Given the description of an element on the screen output the (x, y) to click on. 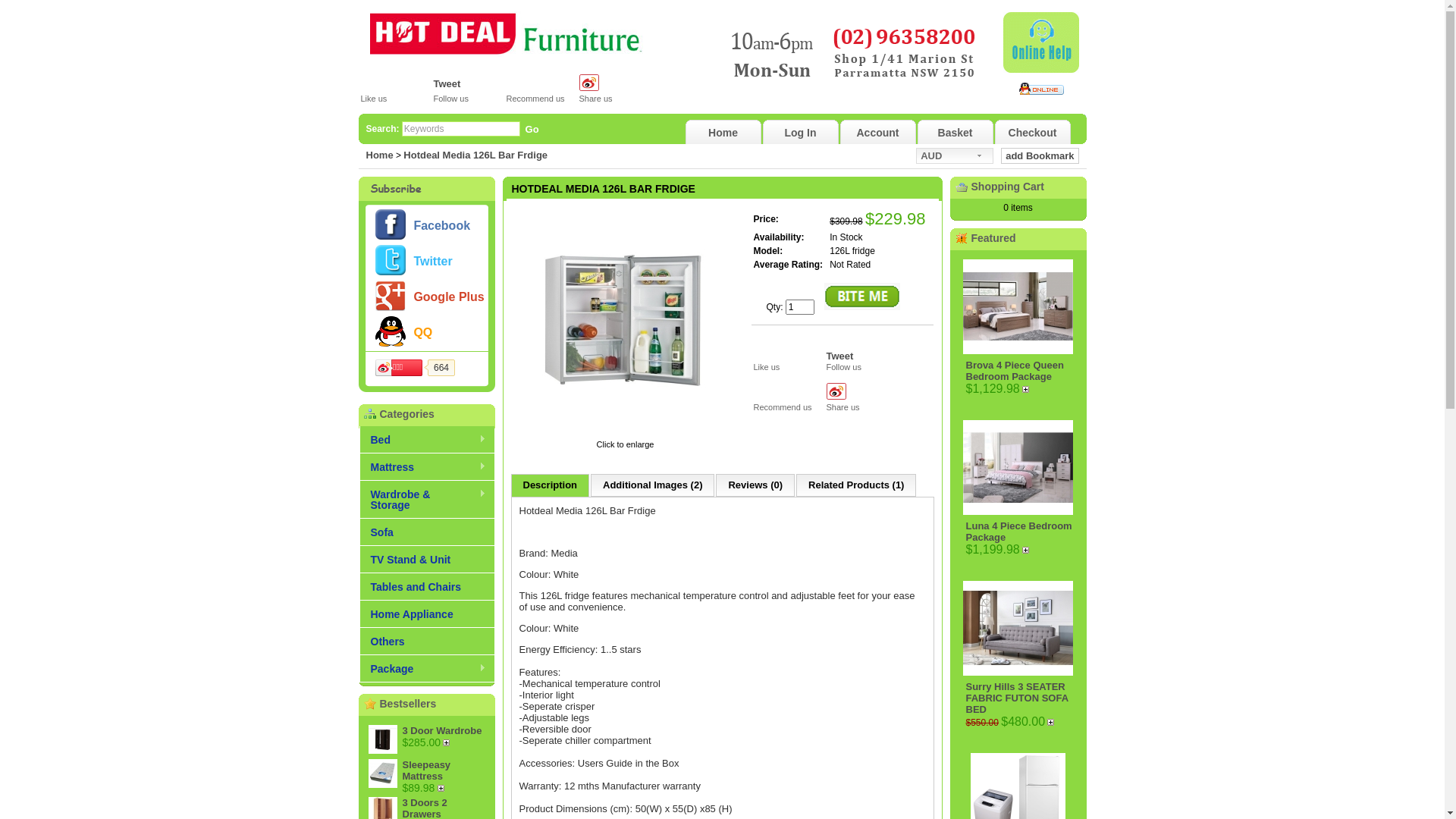
Tweet Element type: text (839, 355)
Additional Images (2) Element type: text (652, 484)
Basket Element type: text (955, 133)
Surry Hills 3 SEATER FABRIC FUTON SOFA BED Element type: text (1017, 697)
Hotdeal Media 126L Bar Frdige Element type: hover (624, 433)
Add to Cart Element type: hover (1052, 721)
Home Element type: text (723, 133)
Sofa Element type: text (426, 532)
Go Element type: text (532, 128)
Home Appliance Element type: text (426, 613)
Sleepeasy Mattress Element type: text (425, 770)
add Bookmark Element type: text (1039, 155)
Brova 4 Piece Queen Bedroom Package Element type: text (1014, 370)
Add to Cart Element type: hover (442, 787)
Add to Cart Element type: hover (447, 742)
  Element type: text (447, 742)
Related Products (1) Element type: text (856, 484)
Others Element type: text (426, 641)
  Element type: text (442, 787)
Add to Cart Element type: hover (1027, 549)
  Element type: text (1052, 721)
Tweet Element type: text (447, 83)
Home Element type: text (378, 154)
3 Door Wardrobe Element type: text (441, 730)
QQ Element type: text (422, 332)
Checkout Element type: text (1032, 133)
Twitter Element type: text (432, 261)
Tables and Chairs Element type: text (426, 586)
Luna 4 Piece Bedroom Package Element type: text (1019, 531)
AUD Element type: text (954, 155)
Facebook Element type: text (441, 225)
Hotdeal Media 126L Bar Frdige Element type: text (475, 154)
  Element type: text (1027, 549)
Contact me via QQ Element type: hover (1041, 88)
Add to Cart Element type: hover (1027, 388)
Log In Element type: text (800, 133)
cheap furniture|bed|wardrobe|Furniture|cheap mattress|sofa Element type: hover (506, 33)
Reviews (0) Element type: text (754, 484)
Description Element type: text (550, 484)
Google Plus Element type: text (448, 296)
Keywords Element type: text (460, 128)
Hotdeal Media 126L Bar Frdige Element type: hover (624, 320)
Account Element type: text (878, 133)
  Element type: text (1027, 388)
TV Stand & Unit Element type: text (426, 559)
